Given the description of an element on the screen output the (x, y) to click on. 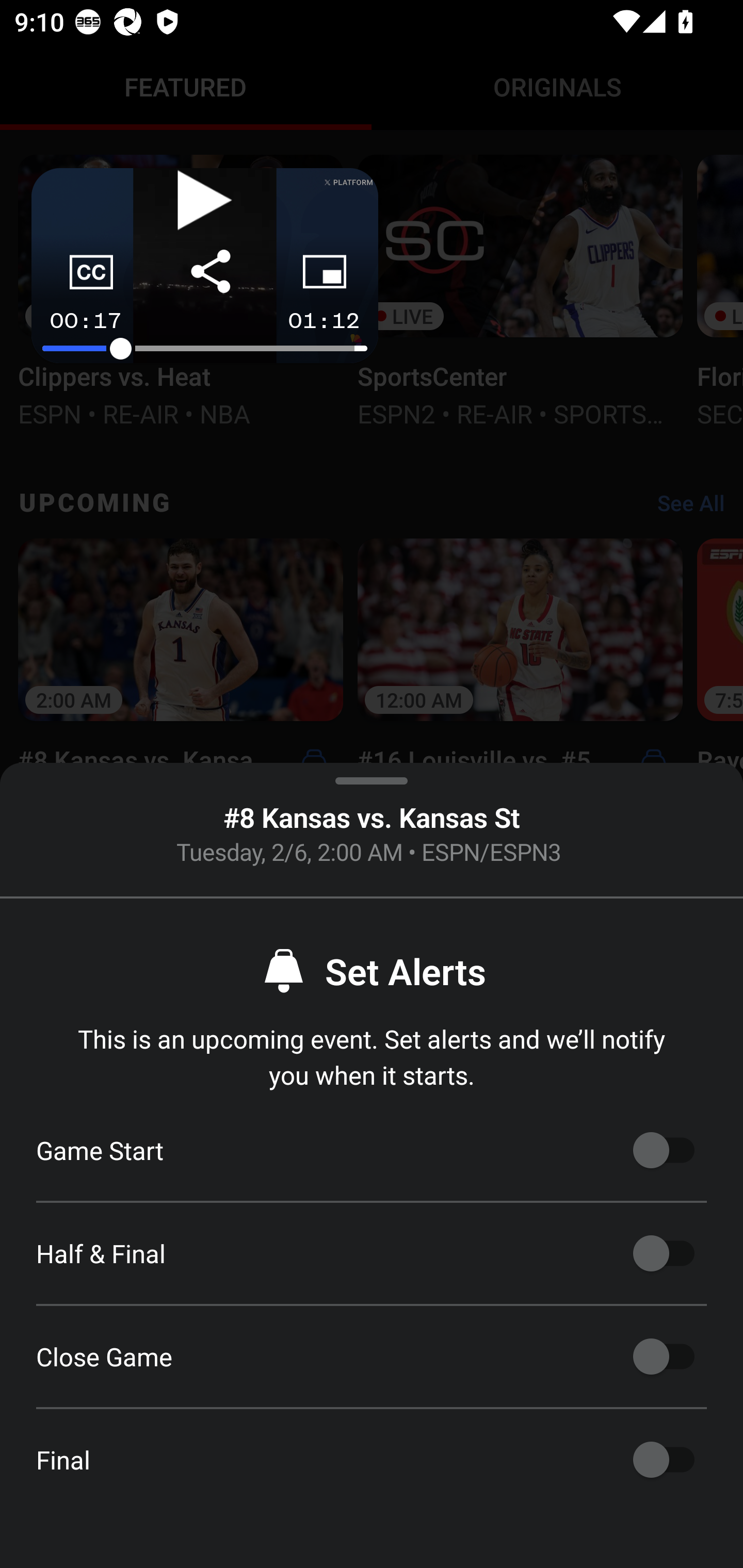
LIVE SportsCenter ESPN2 • RE-AIR • SPORTSCENTER (519, 289)
Game Start (663, 1150)
Half & Final (663, 1253)
Close Game (663, 1356)
Final (663, 1459)
